Given the description of an element on the screen output the (x, y) to click on. 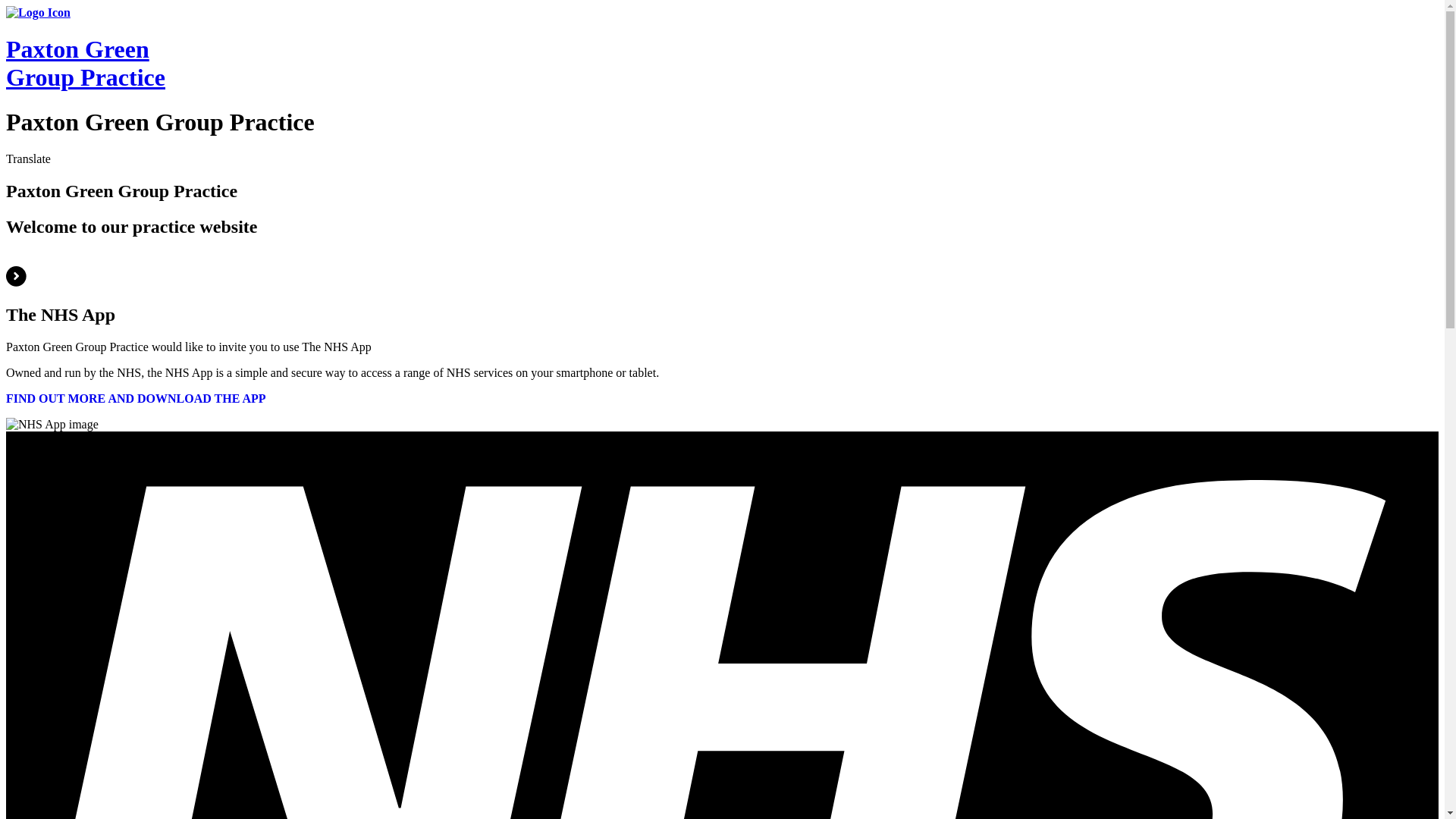
FIND OUT MORE AND DOWNLOAD THE APP (135, 398)
